Given the description of an element on the screen output the (x, y) to click on. 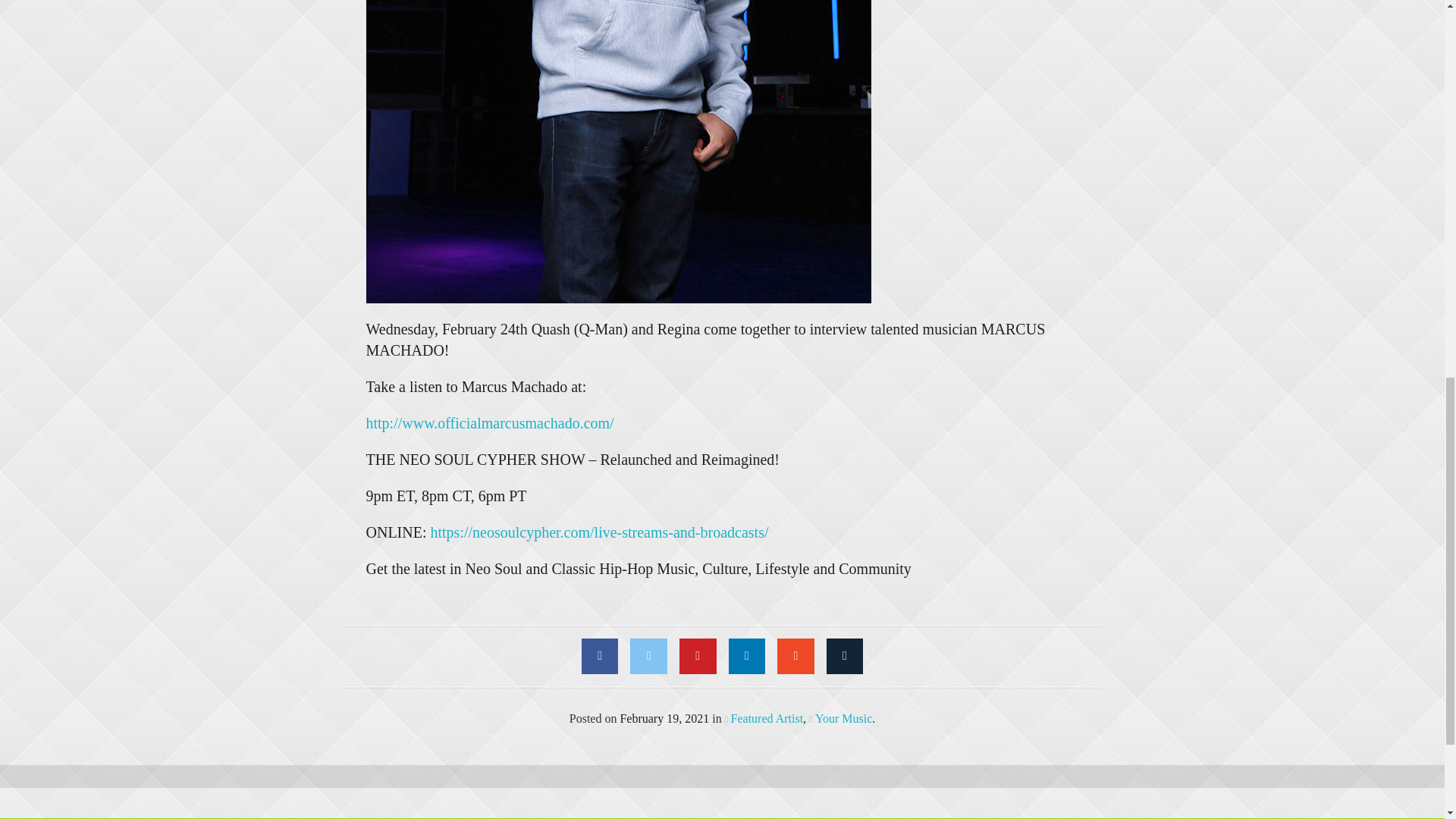
Linkedin (746, 656)
February 19, 2021 (664, 717)
Pinterest (697, 656)
Your Music (840, 717)
Mail (795, 656)
Facebook (599, 656)
1:15 pm (664, 717)
Twitter (648, 656)
Featured Artist (764, 717)
Print (845, 656)
